Given the description of an element on the screen output the (x, y) to click on. 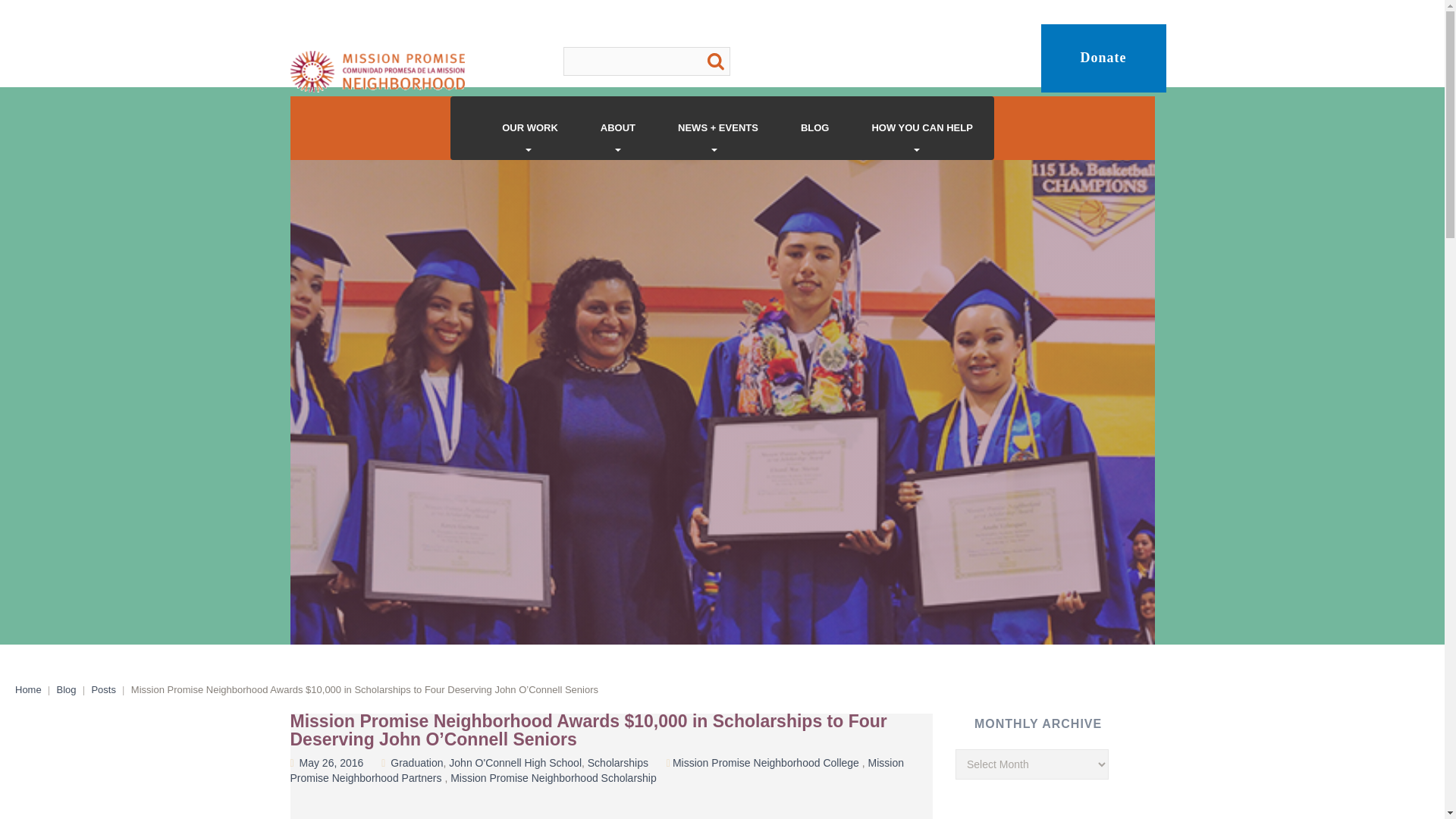
Donate (1103, 58)
OUR WORK (529, 127)
About (618, 127)
Mission Promise Neighborhood Partners (596, 769)
John O'Connell High School (514, 762)
Mission Promise Neighborhood Scholarship (552, 777)
Scholarships (617, 762)
BLOG (815, 127)
Our Work (529, 127)
Mission Promise Neighborhood College (765, 762)
Posts (103, 689)
ABOUT (618, 127)
Blog (66, 689)
HOW YOU CAN HELP (921, 127)
Home (28, 689)
